Given the description of an element on the screen output the (x, y) to click on. 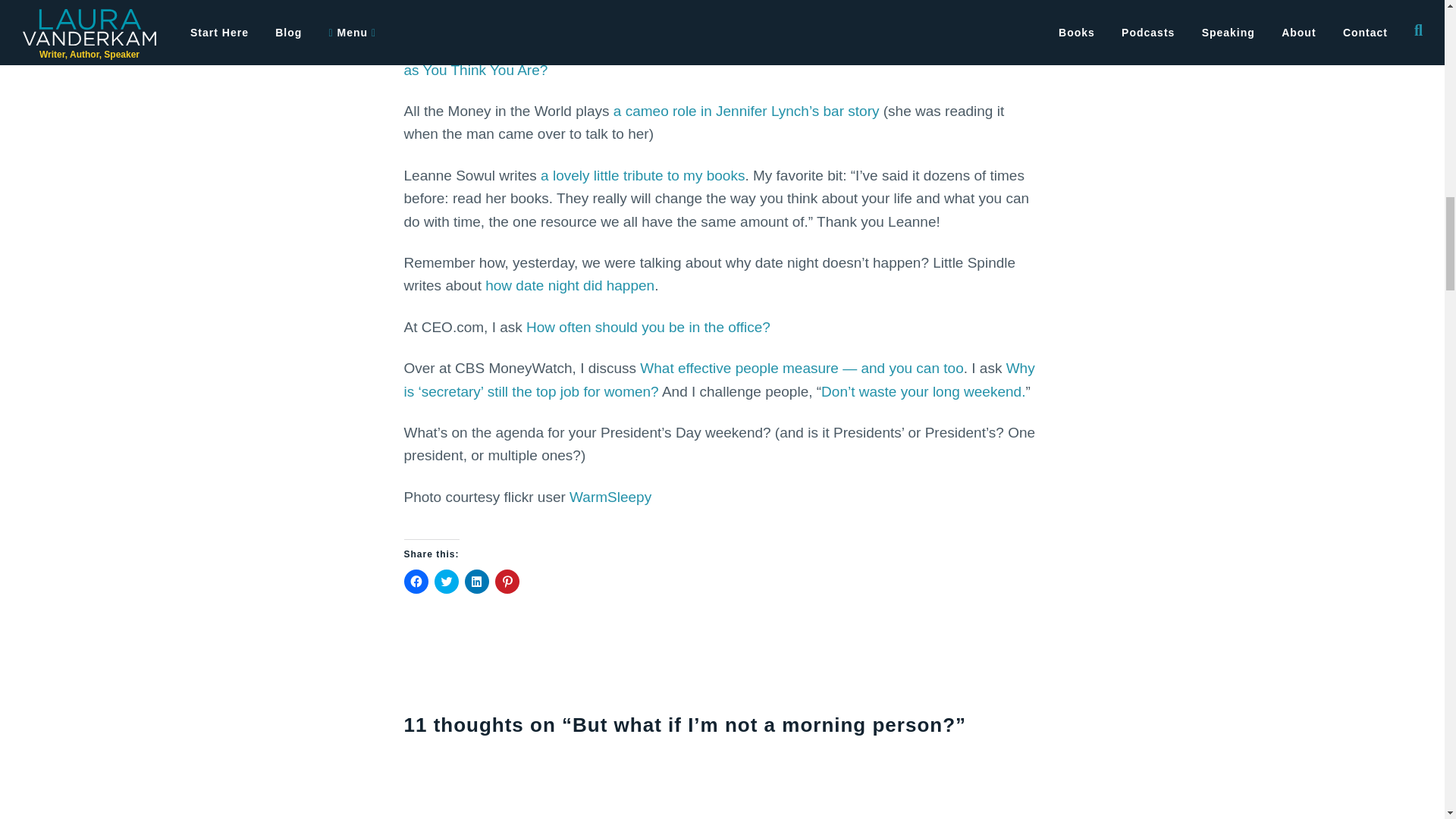
Click to share on Pinterest (506, 581)
Click to share on LinkedIn (475, 581)
a lovely little tribute to my books (642, 175)
Are You Really as Busy as You Think You Are? (712, 57)
how date night did happen (568, 285)
Click to share on Facebook (415, 581)
How often should you be in the office? (647, 326)
Click to share on Twitter (445, 581)
WarmSleepy (609, 496)
